Given the description of an element on the screen output the (x, y) to click on. 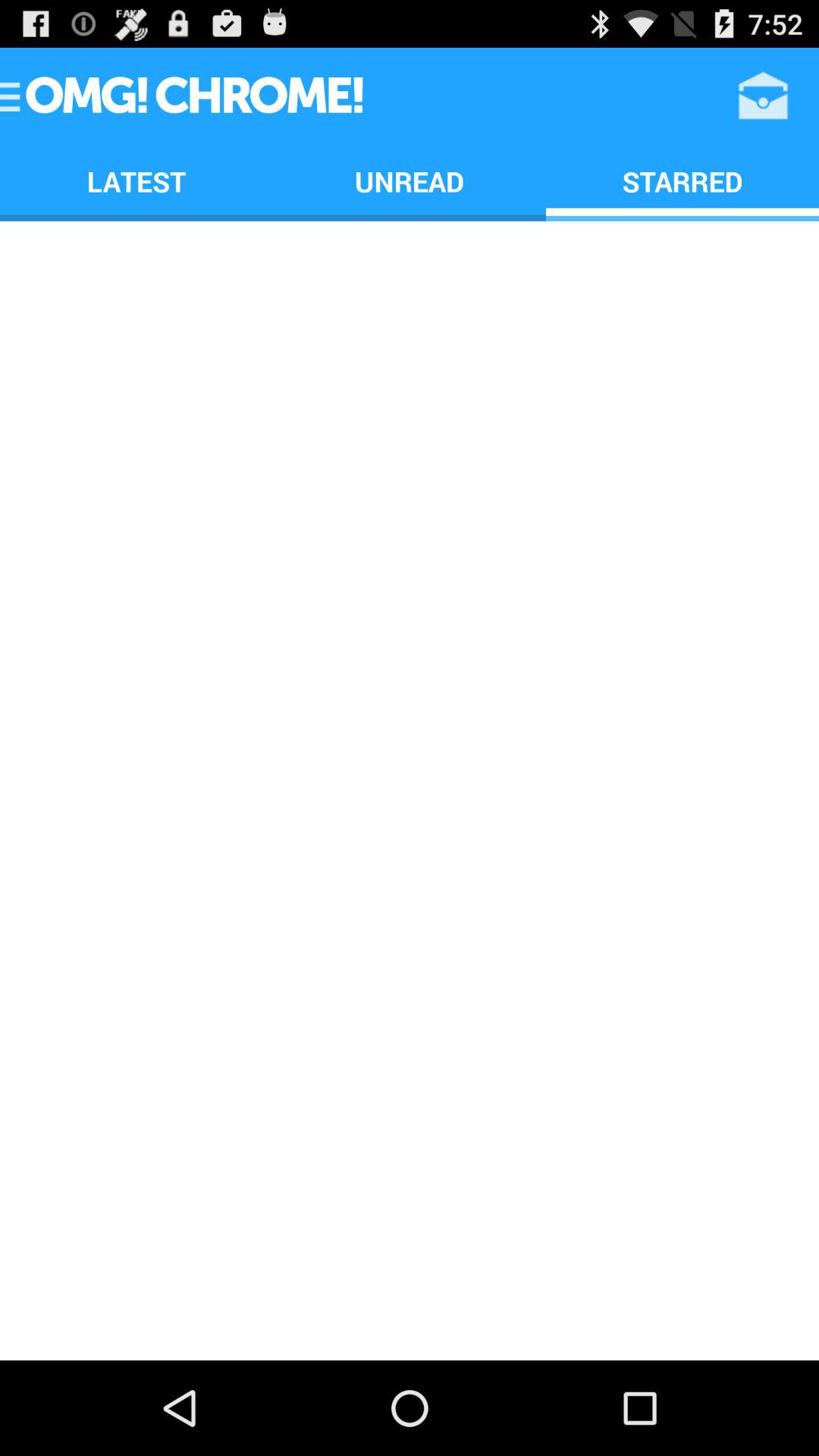
turn off item to the right of unread (763, 95)
